Given the description of an element on the screen output the (x, y) to click on. 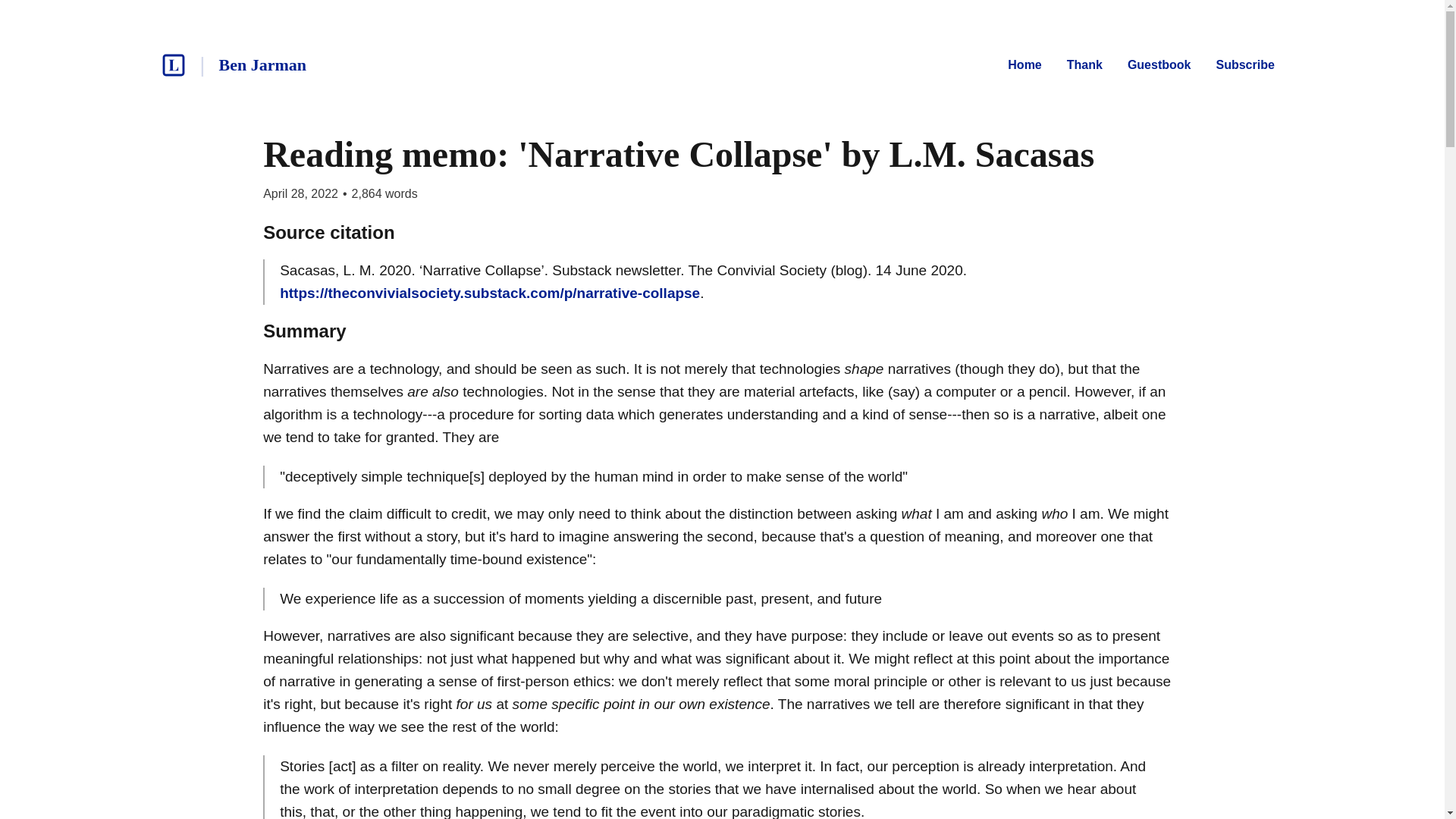
Reading memo: 'Narrative Collapse' by L.M. Sacasas (678, 154)
Thank (1085, 64)
Subscribe (1244, 64)
Ben Jarman (262, 64)
Home (1023, 64)
Guestbook (1158, 64)
